Given the description of an element on the screen output the (x, y) to click on. 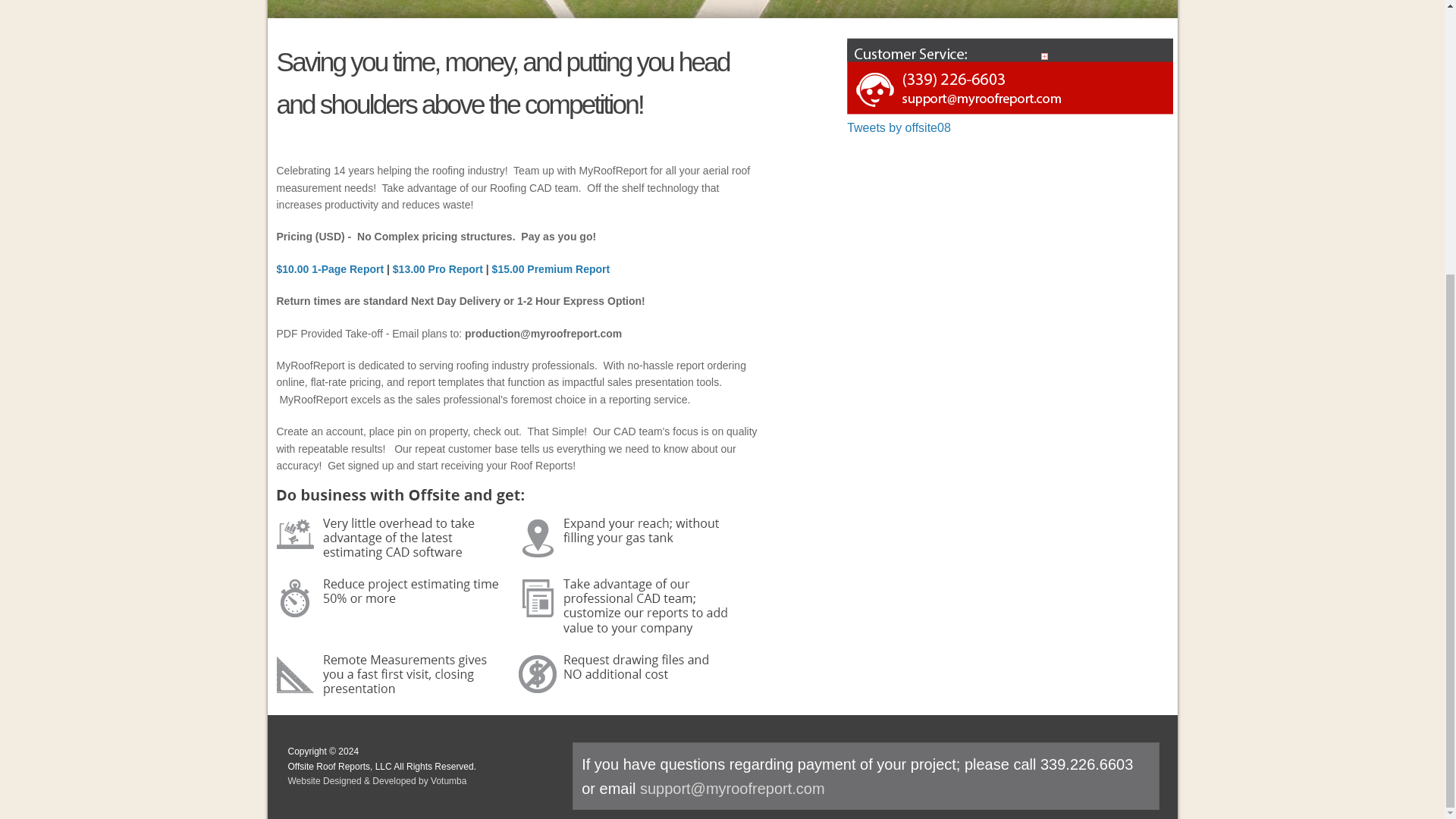
Tweets by offsite08 (898, 127)
